Given the description of an element on the screen output the (x, y) to click on. 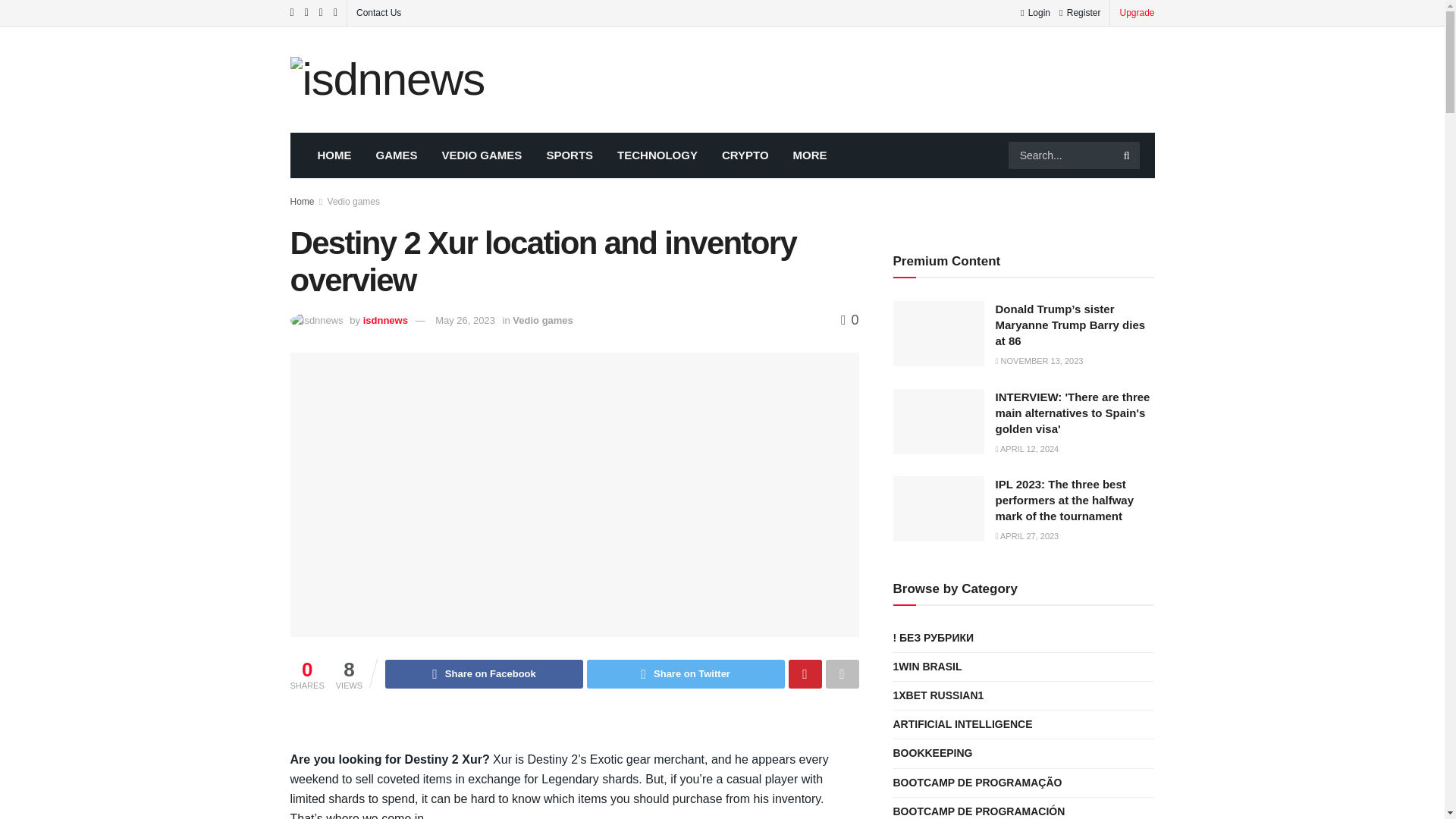
VEDIO GAMES (481, 155)
MORE (810, 155)
Contact Us (378, 12)
Upgrade (1136, 12)
TECHNOLOGY (657, 155)
Register (1079, 12)
Login (1034, 12)
Home (301, 201)
Vedio games (353, 201)
GAMES (396, 155)
